Given the description of an element on the screen output the (x, y) to click on. 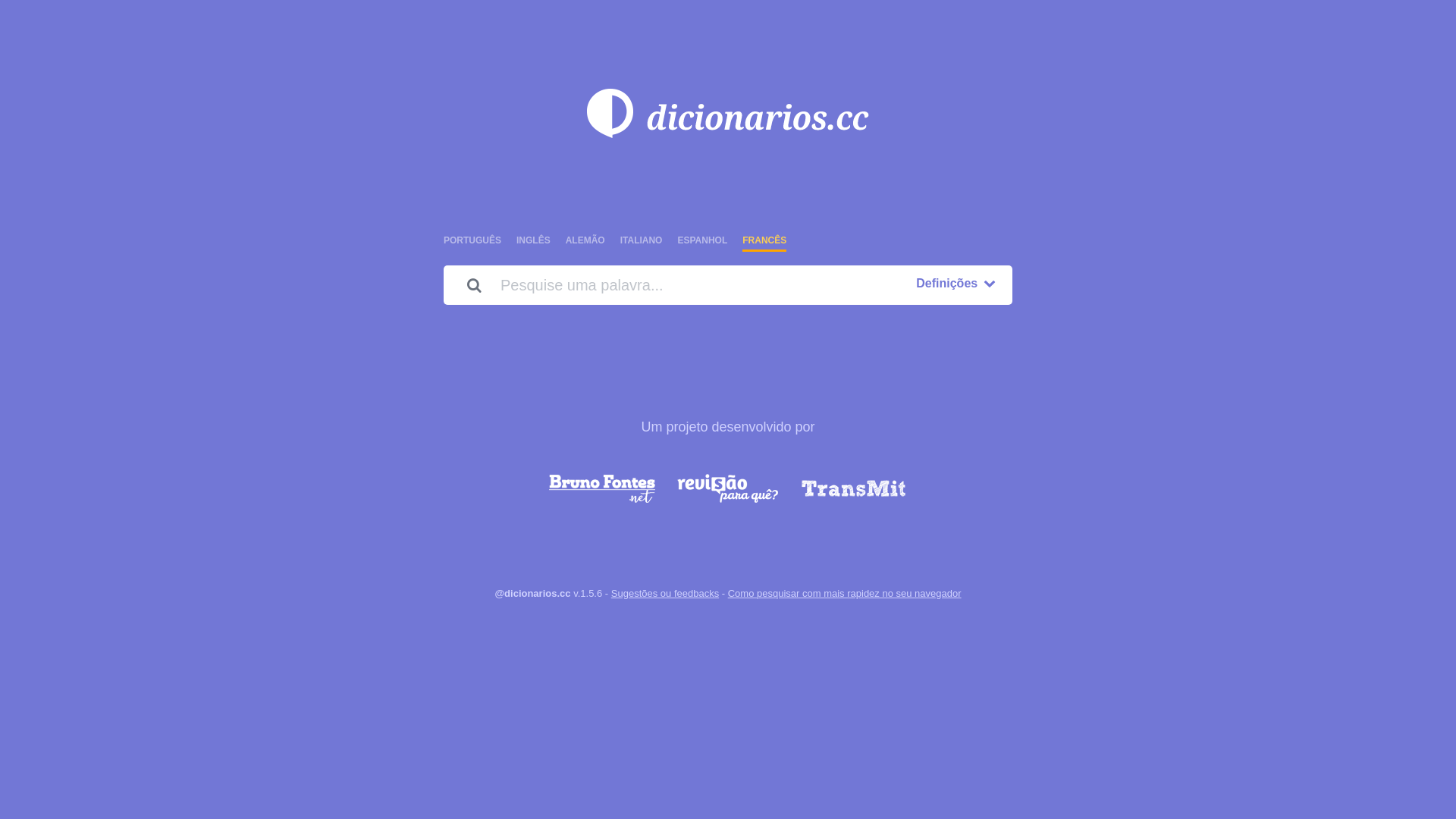
ITALIANO Element type: text (641, 240)
ESPANHOL Element type: text (702, 240)
Como pesquisar com mais rapidez no seu navegador Element type: text (844, 593)
